Given the description of an element on the screen output the (x, y) to click on. 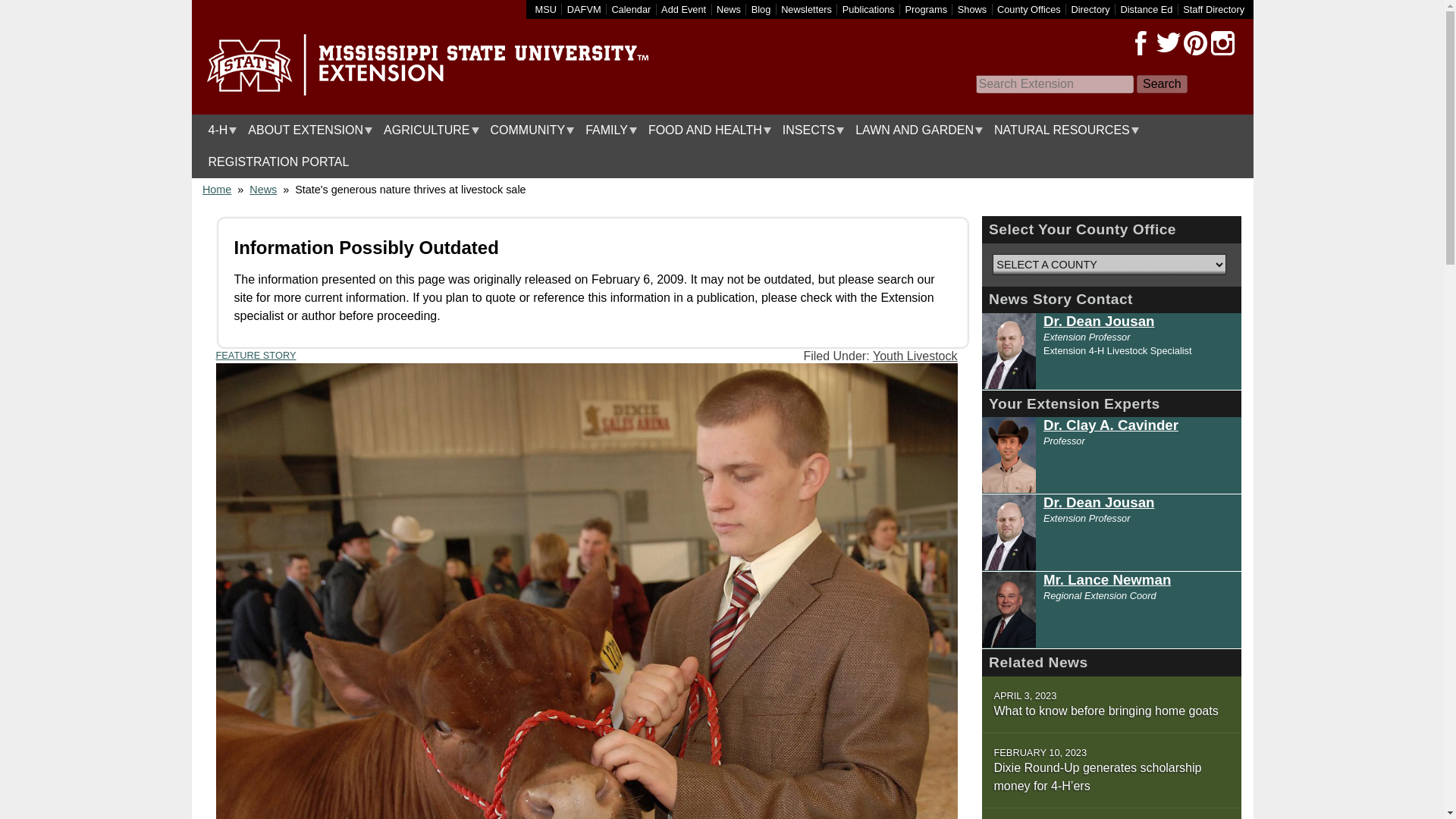
The main event calendar for the MSU Extension Service (630, 9)
Distance Ed (1145, 9)
Directory (1089, 9)
Calendar (630, 9)
Instagram (1221, 43)
Newsletters (805, 9)
County Offices (1029, 9)
Link to Mississippi State University (545, 9)
